Given the description of an element on the screen output the (x, y) to click on. 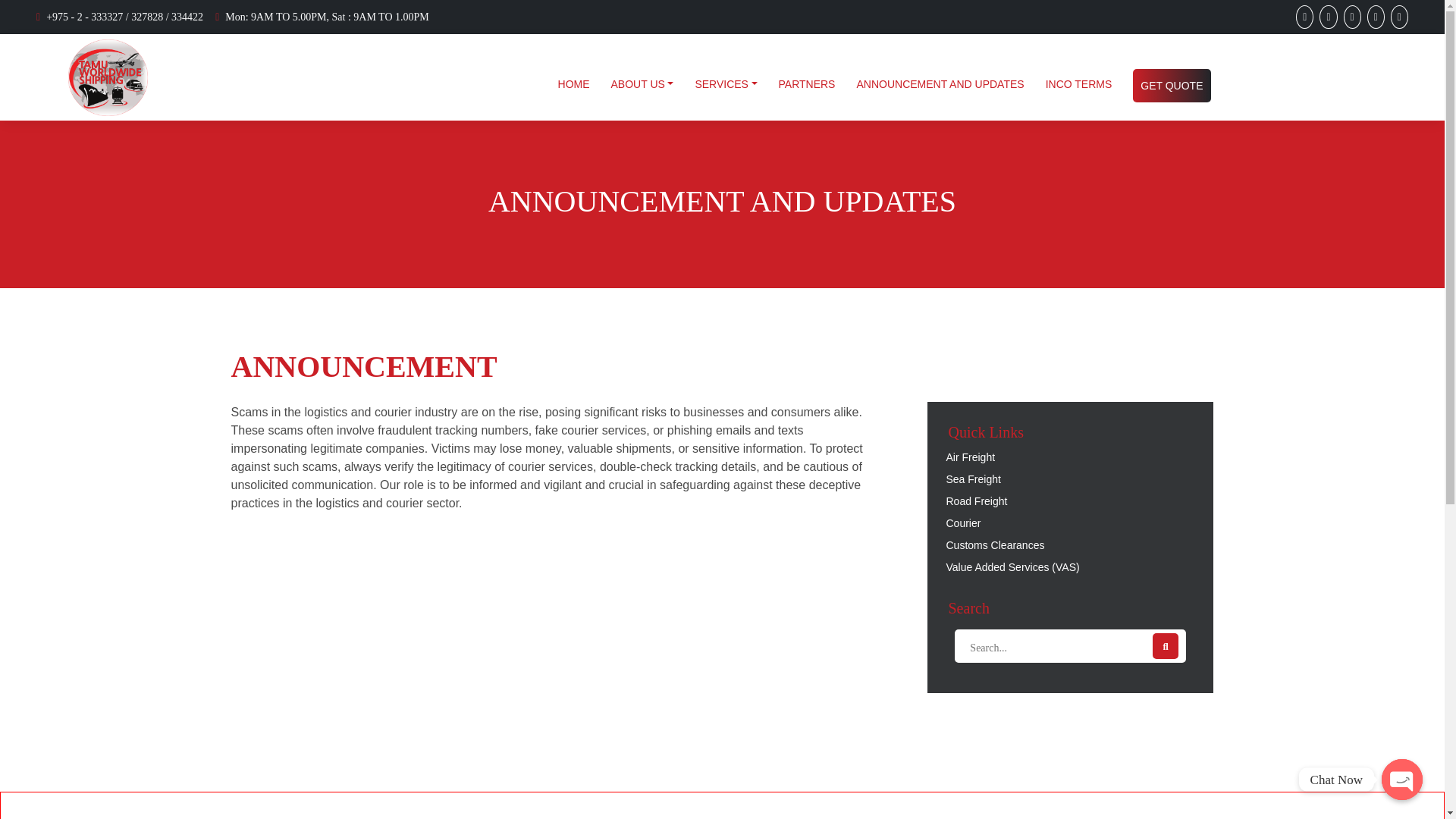
INCO TERMS (1078, 83)
Courier (1069, 523)
Air Freight (1069, 456)
GET QUOTE (1170, 85)
PARTNERS (807, 83)
Road Freight (1069, 501)
ANNOUNCEMENT AND UPDATES (939, 83)
SERVICES (725, 83)
HOME (573, 83)
ABOUT US (642, 83)
Customs Clearances (1069, 545)
Sea Freight (1069, 478)
